Given the description of an element on the screen output the (x, y) to click on. 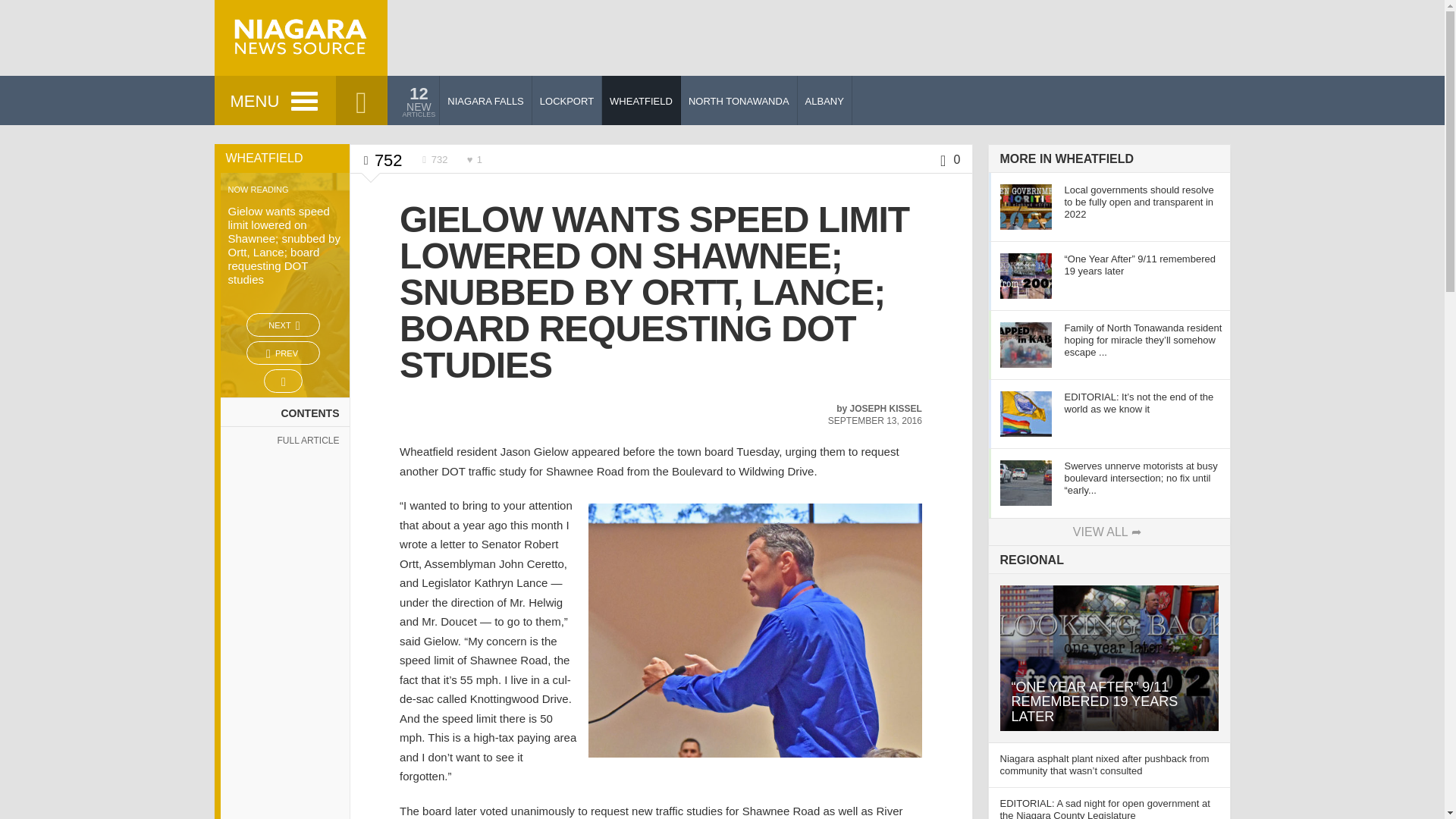
NIAGARA FALLS (485, 100)
